Given the description of an element on the screen output the (x, y) to click on. 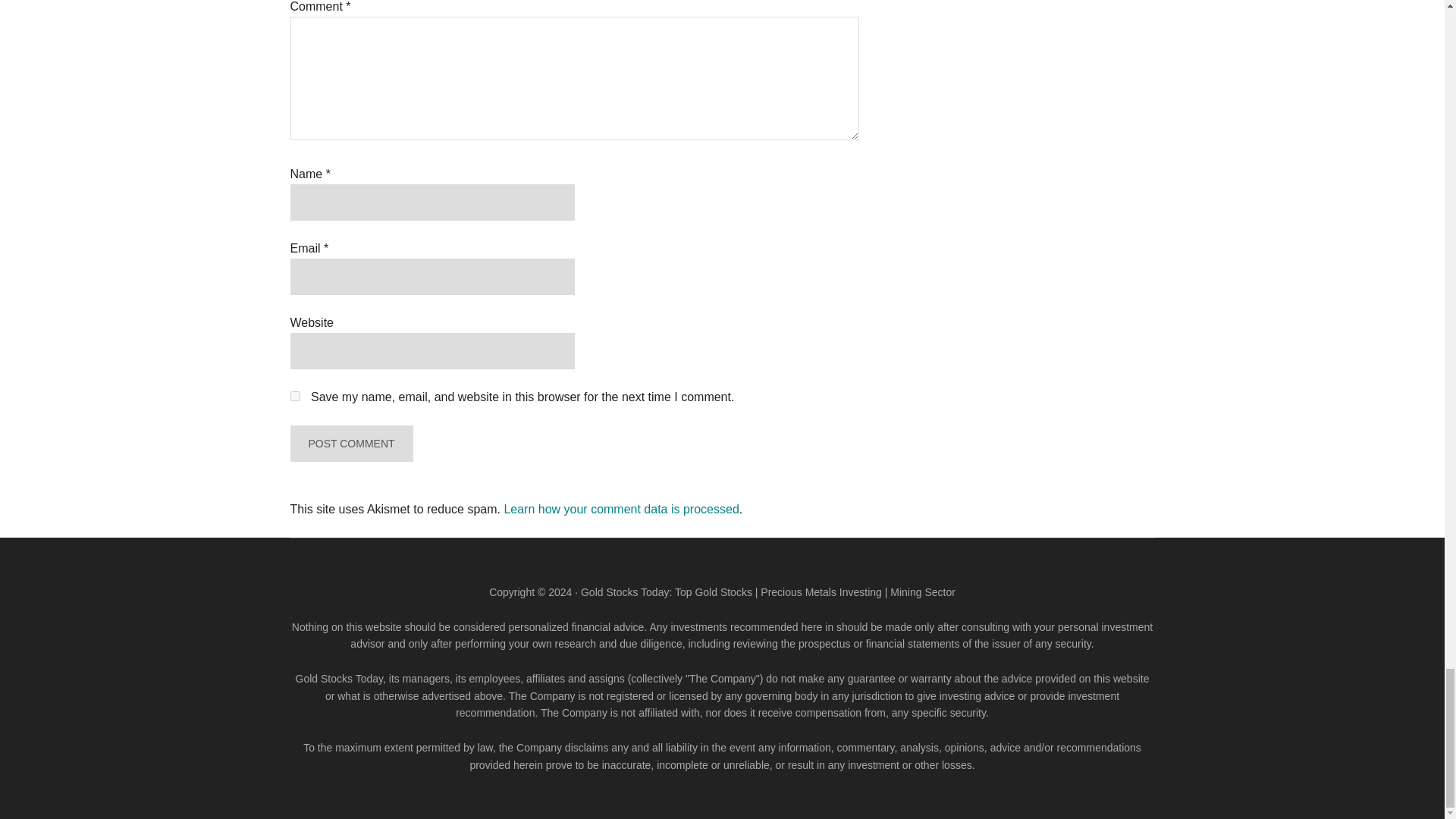
Post Comment (350, 443)
Post Comment (350, 443)
yes (294, 396)
